Given the description of an element on the screen output the (x, y) to click on. 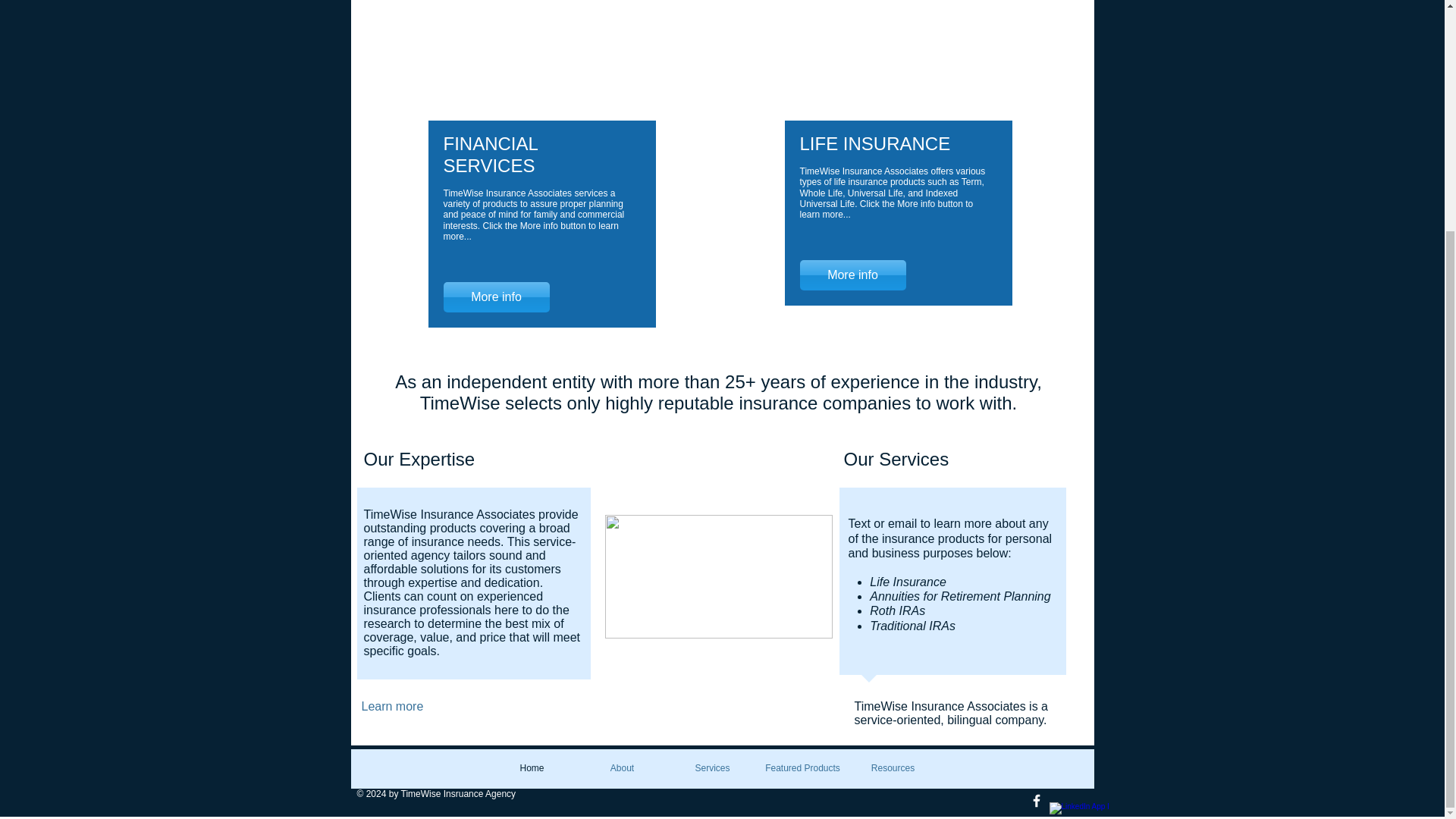
More info (495, 296)
Resources (892, 767)
About (621, 767)
Learn more (410, 706)
Home (531, 767)
Featured Products (802, 767)
More info (852, 275)
Services (711, 767)
